Given the description of an element on the screen output the (x, y) to click on. 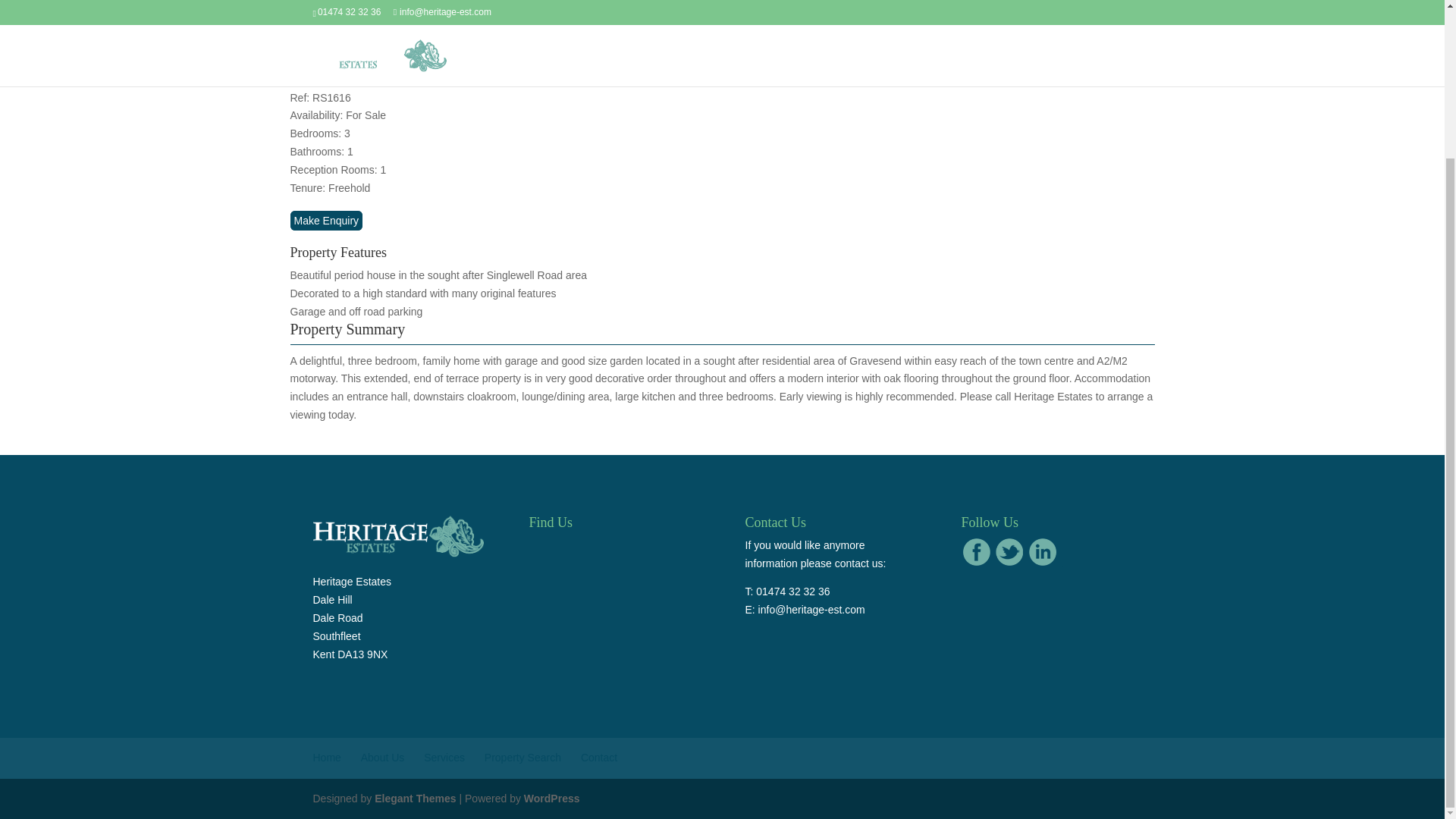
About Us (382, 757)
Make Enquiry (325, 220)
Home (326, 757)
Elegant Themes (414, 798)
Premium WordPress Themes (414, 798)
Property Search (522, 757)
Services (443, 757)
WordPress (551, 798)
Contact (598, 757)
